Given the description of an element on the screen output the (x, y) to click on. 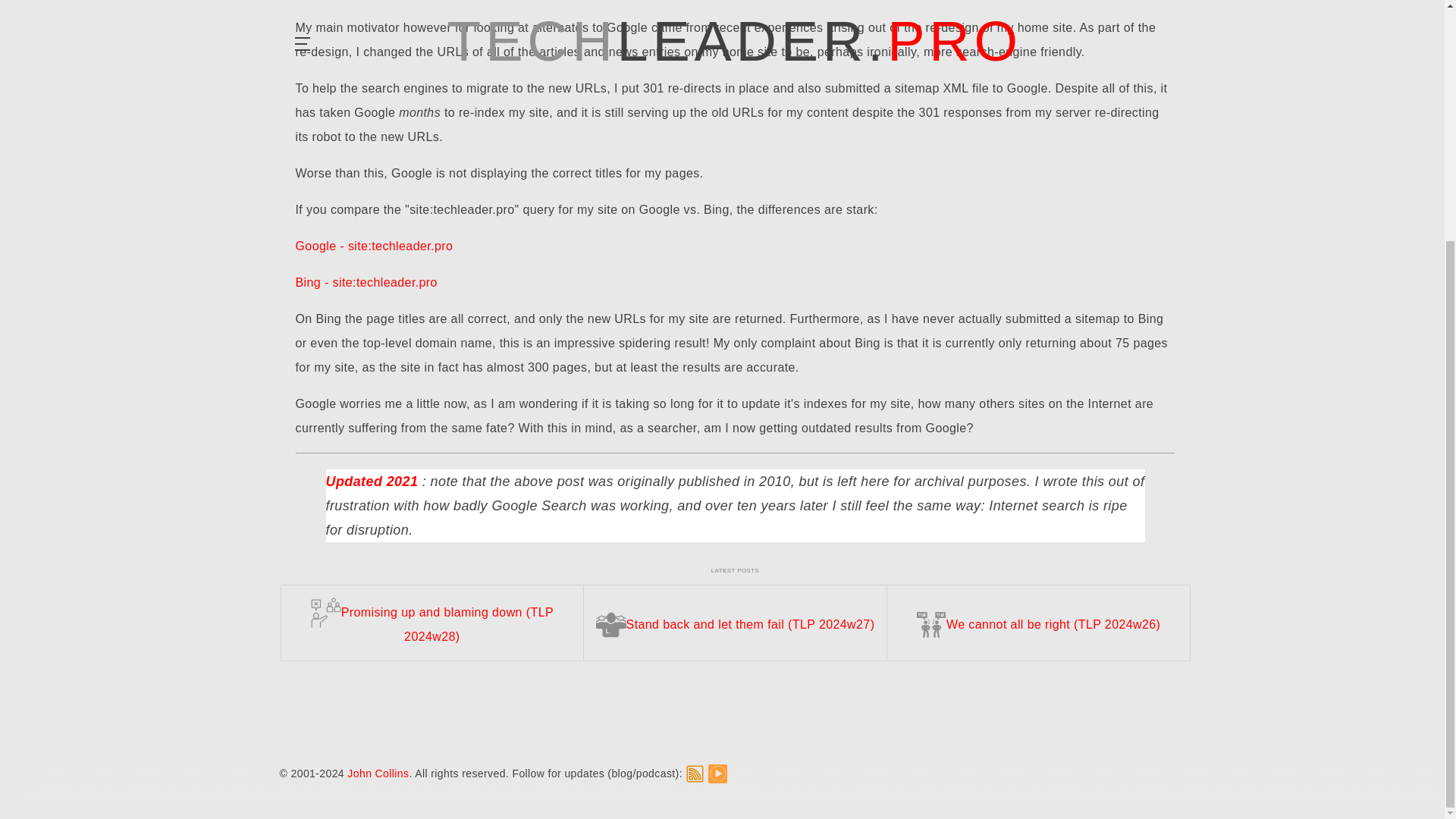
Google - site:techleader.pro (373, 245)
Bing - site:techleader.pro (366, 282)
John Collins (378, 440)
